Given the description of an element on the screen output the (x, y) to click on. 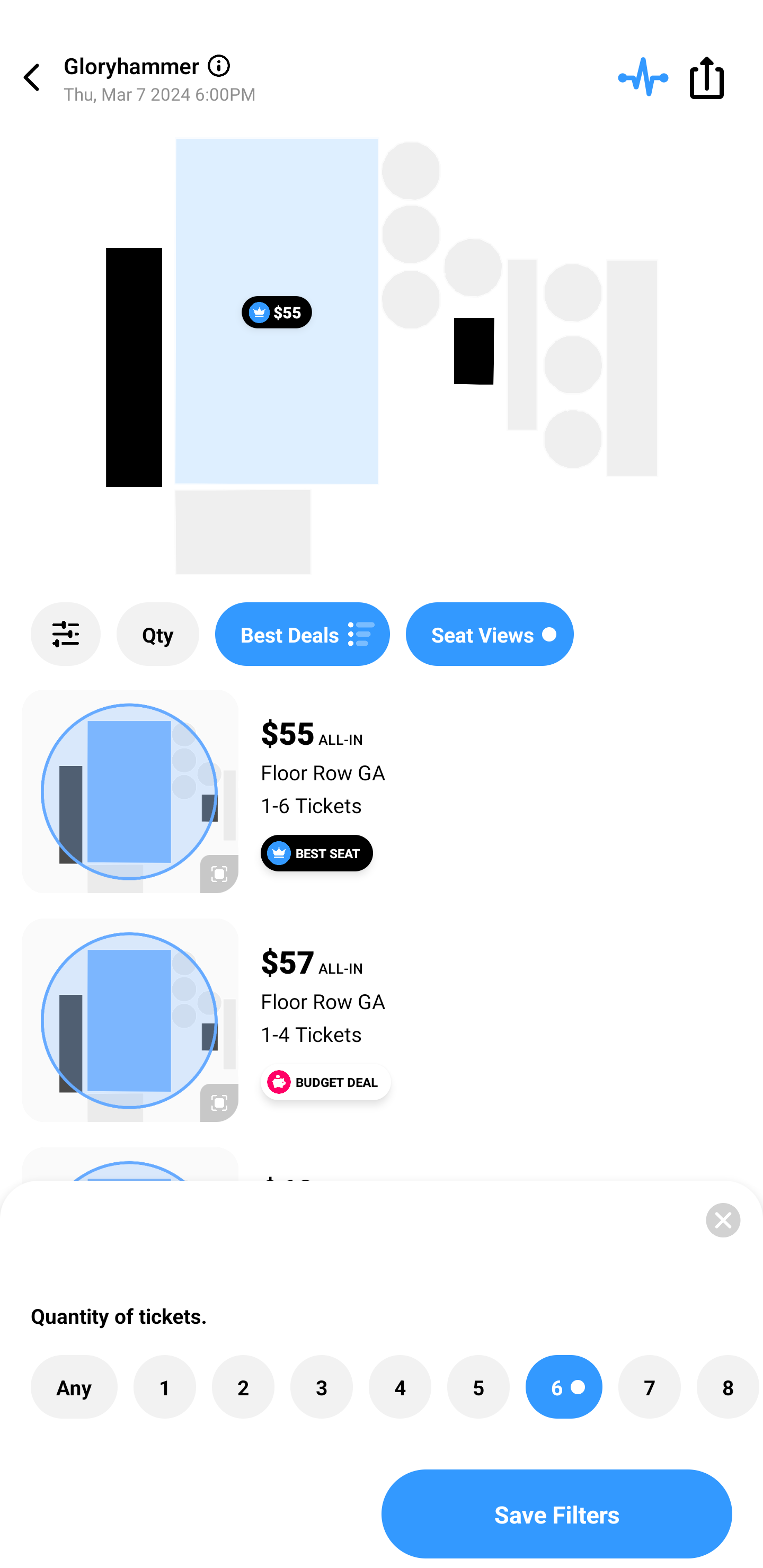
Any (73, 1386)
1 (164, 1386)
2 (243, 1386)
3 (321, 1386)
4 (399, 1386)
5 (478, 1386)
6 (563, 1386)
7 (649, 1386)
8 (727, 1386)
Save Filters (556, 1513)
